Given the description of an element on the screen output the (x, y) to click on. 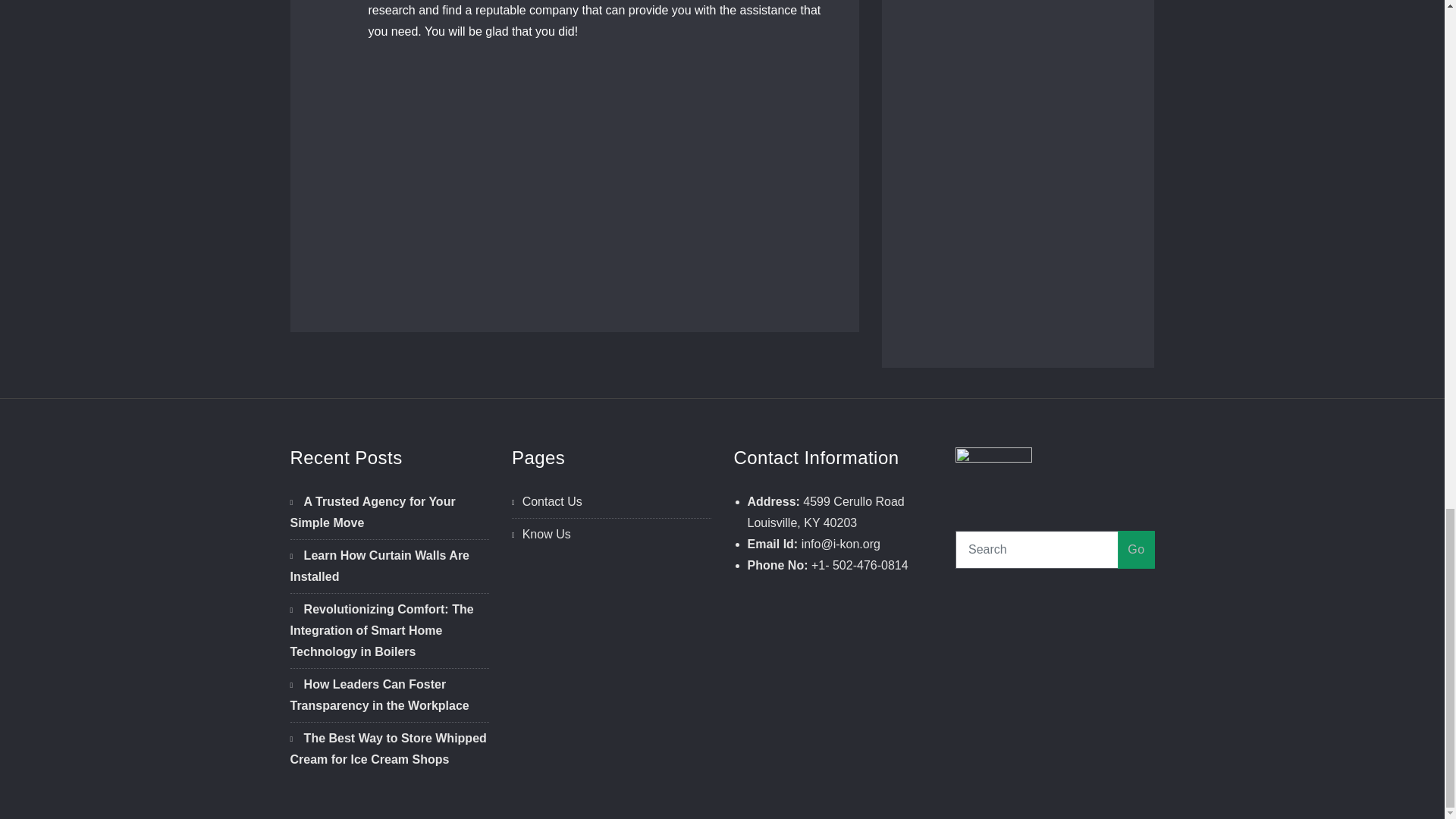
How Leaders Can Foster Transparency in the Workplace (378, 694)
Go (1136, 549)
A Trusted Agency for Your Simple Move (371, 512)
The Best Way to Store Whipped Cream for Ice Cream Shops (387, 748)
Know Us (546, 533)
YouTube video player (580, 161)
Learn How Curtain Walls Are Installed (378, 565)
Contact Us (552, 501)
